Given the description of an element on the screen output the (x, y) to click on. 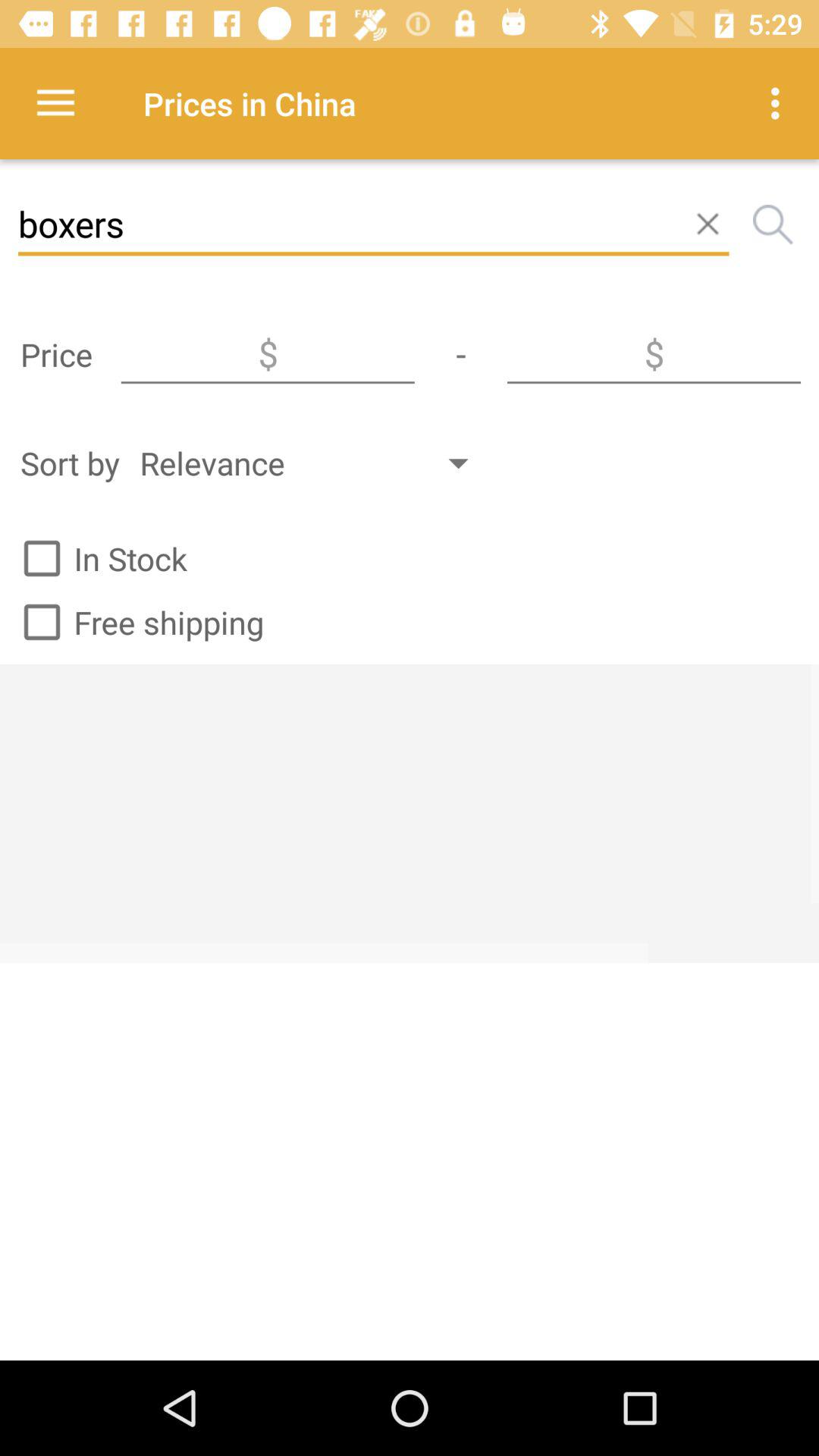
click the icon next to - icon (653, 354)
